Given the description of an element on the screen output the (x, y) to click on. 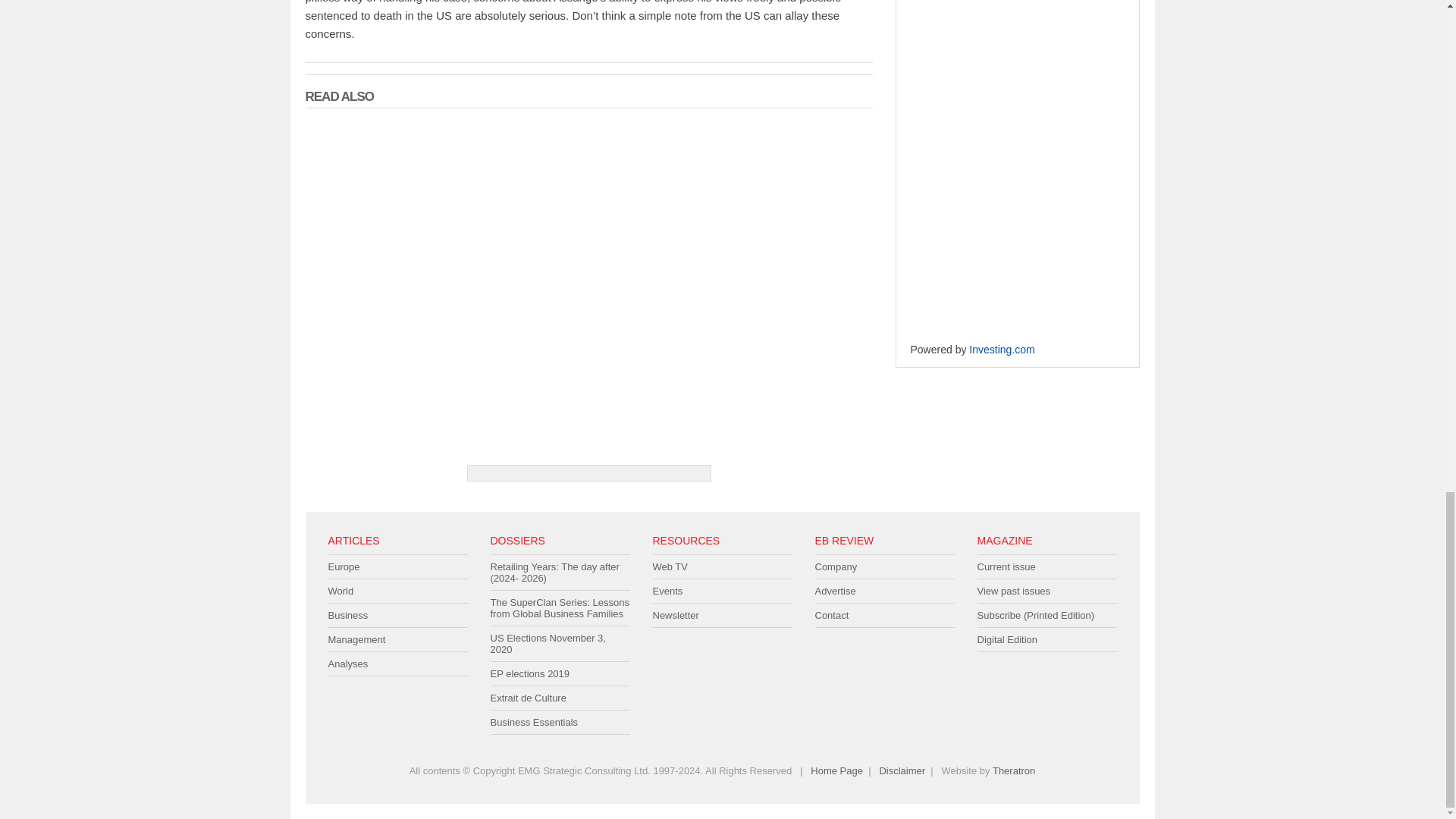
Europe (397, 567)
Investing.com (1001, 332)
World (397, 591)
